Given the description of an element on the screen output the (x, y) to click on. 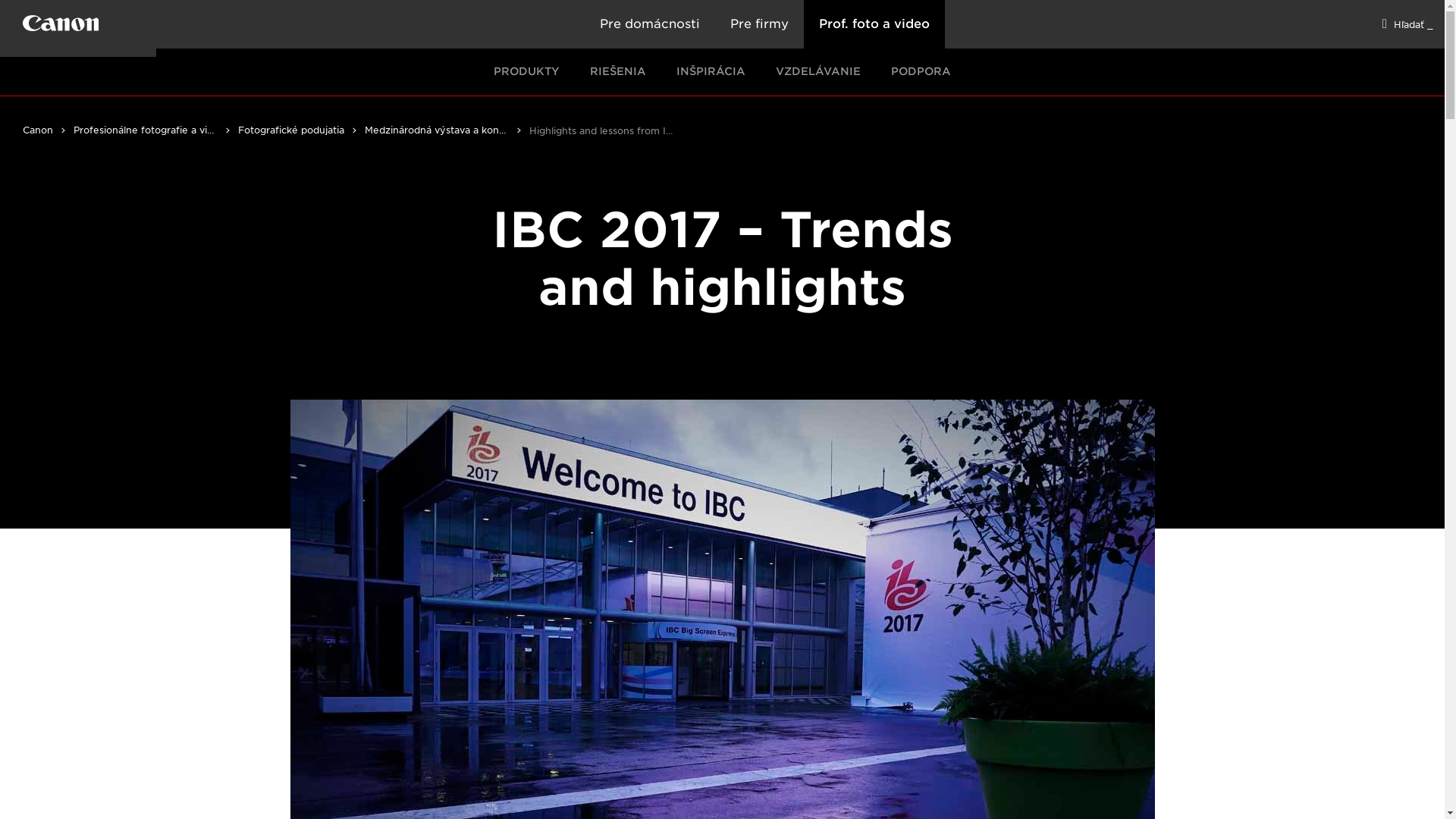
Prof. foto a video (873, 24)
PRODUKTY (527, 72)
Canon Logo, back to home page (89, 25)
Pre firmy (758, 24)
